Given the description of an element on the screen output the (x, y) to click on. 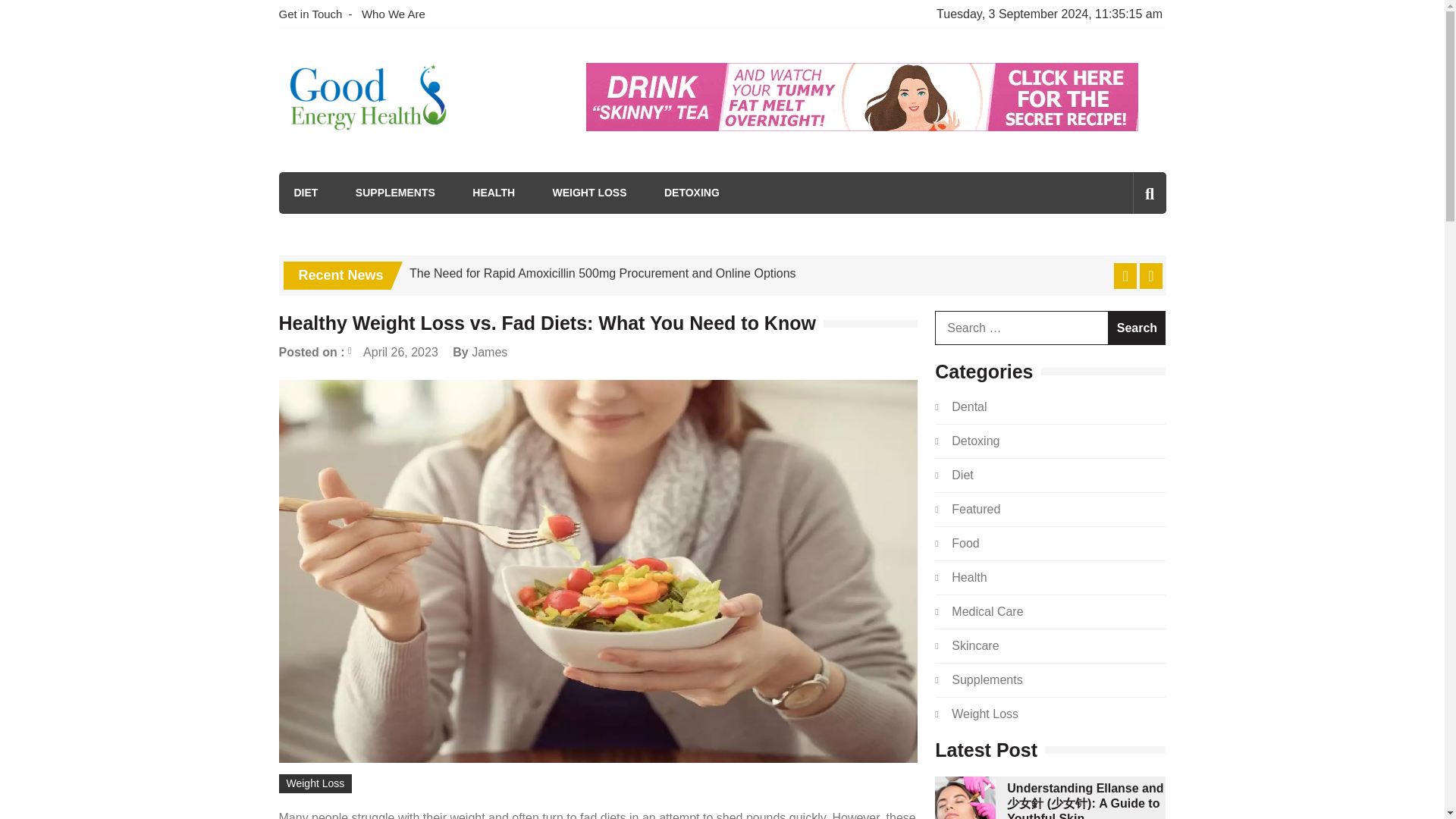
Diet (962, 474)
HEALTH (493, 192)
Good Energy Health (406, 159)
Search (1137, 327)
DETOXING (691, 192)
Weight Loss (984, 713)
Search (1137, 327)
WEIGHT LOSS (588, 192)
SUPPLEMENTS (395, 192)
